Given the description of an element on the screen output the (x, y) to click on. 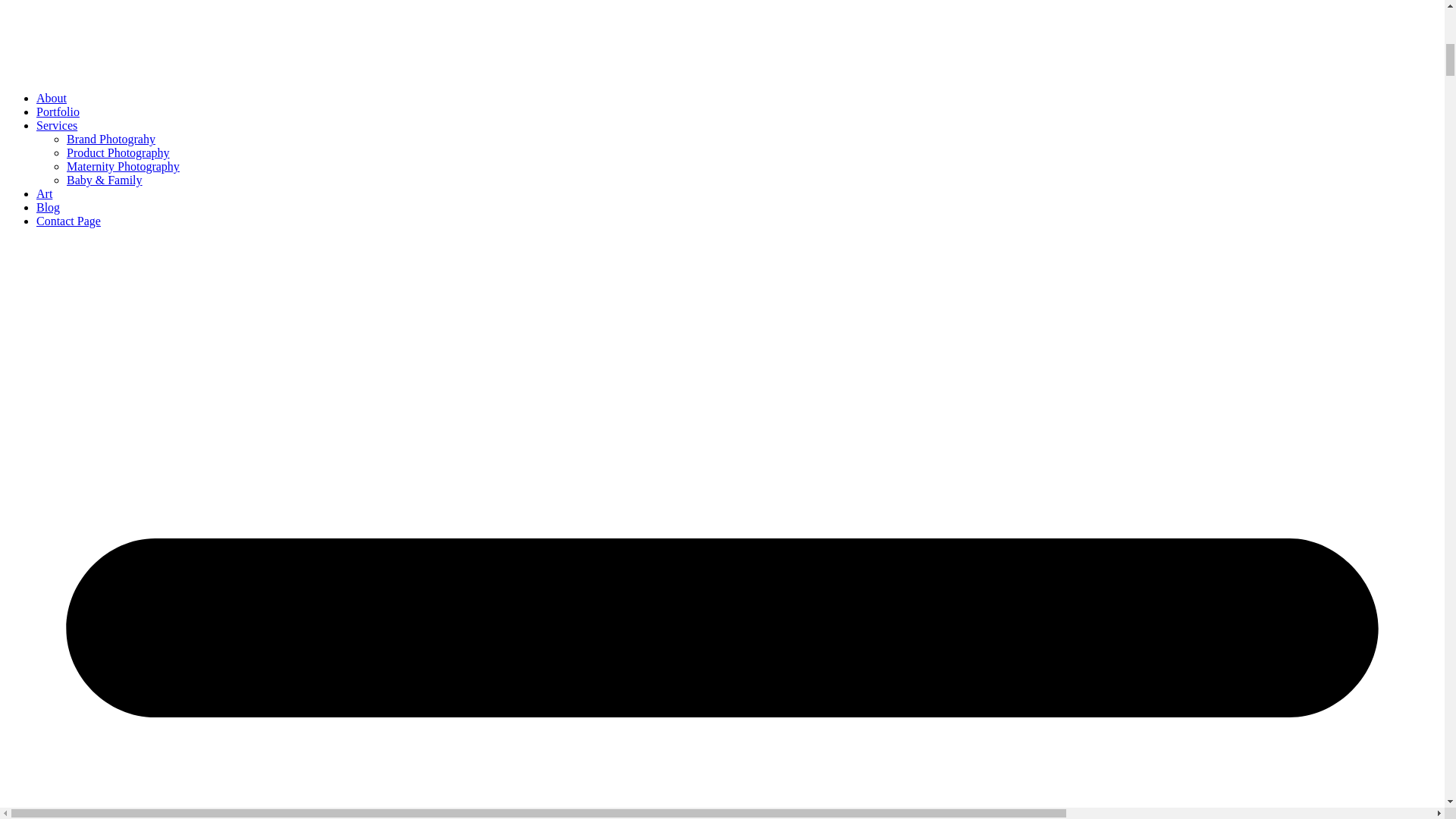
Blog (47, 206)
Maternity Photography (122, 165)
Contact Page (68, 220)
Art (44, 193)
Portfolio (58, 111)
Brand Photograhy (110, 138)
Services (56, 124)
About (51, 97)
Product Photography (118, 152)
